Given the description of an element on the screen output the (x, y) to click on. 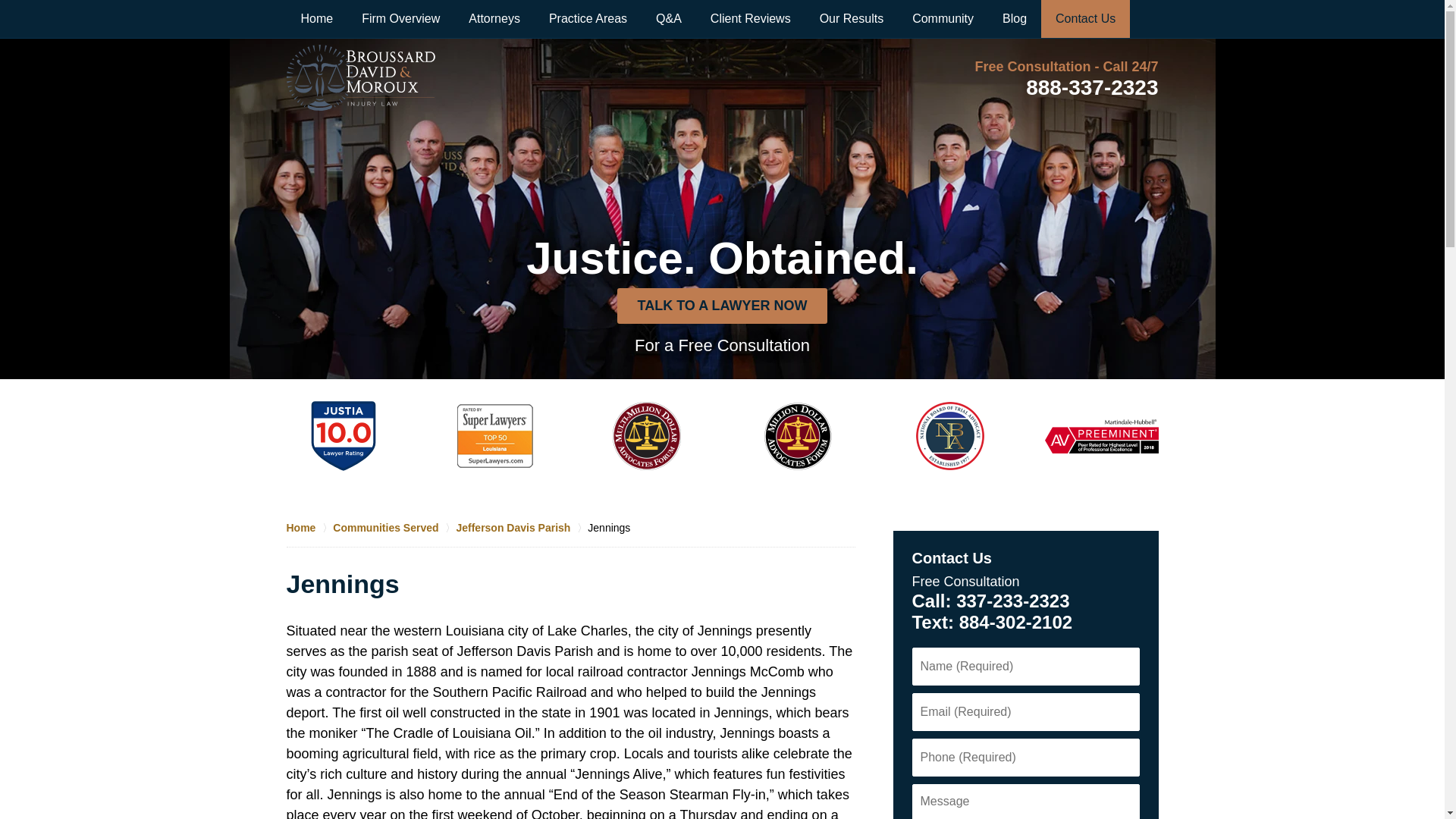
Our Results (851, 18)
Back to Home (360, 77)
Contact Us (1085, 18)
Community (943, 18)
Practice Areas (588, 18)
Home (316, 18)
Client Reviews (750, 18)
Firm Overview (400, 18)
Attorneys (494, 18)
Blog (1014, 18)
